Given the description of an element on the screen output the (x, y) to click on. 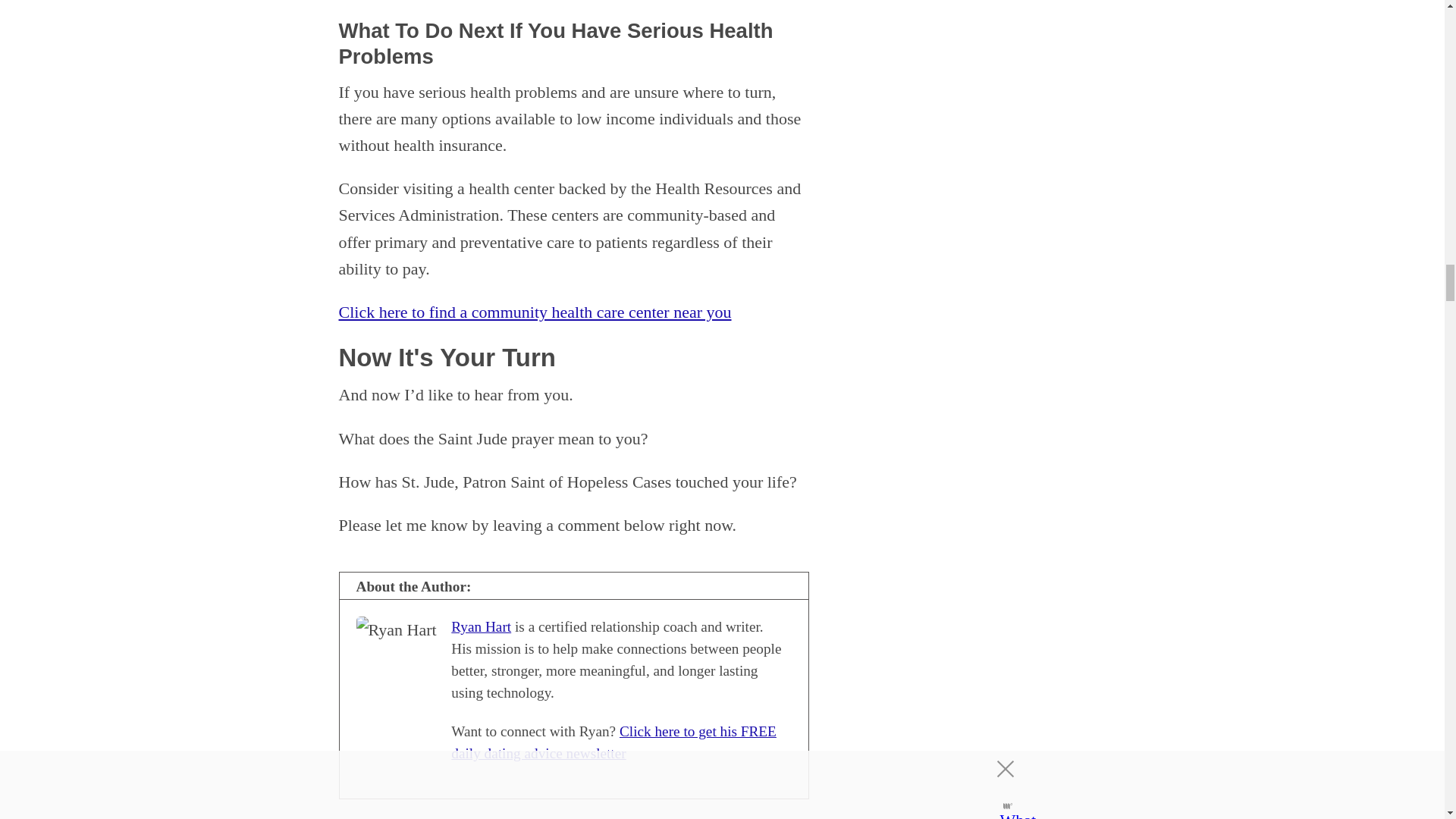
Click here to get his FREE daily dating advice newsletter (613, 742)
Ryan Hart (481, 626)
Click here to find a community health care center near you (533, 311)
